Given the description of an element on the screen output the (x, y) to click on. 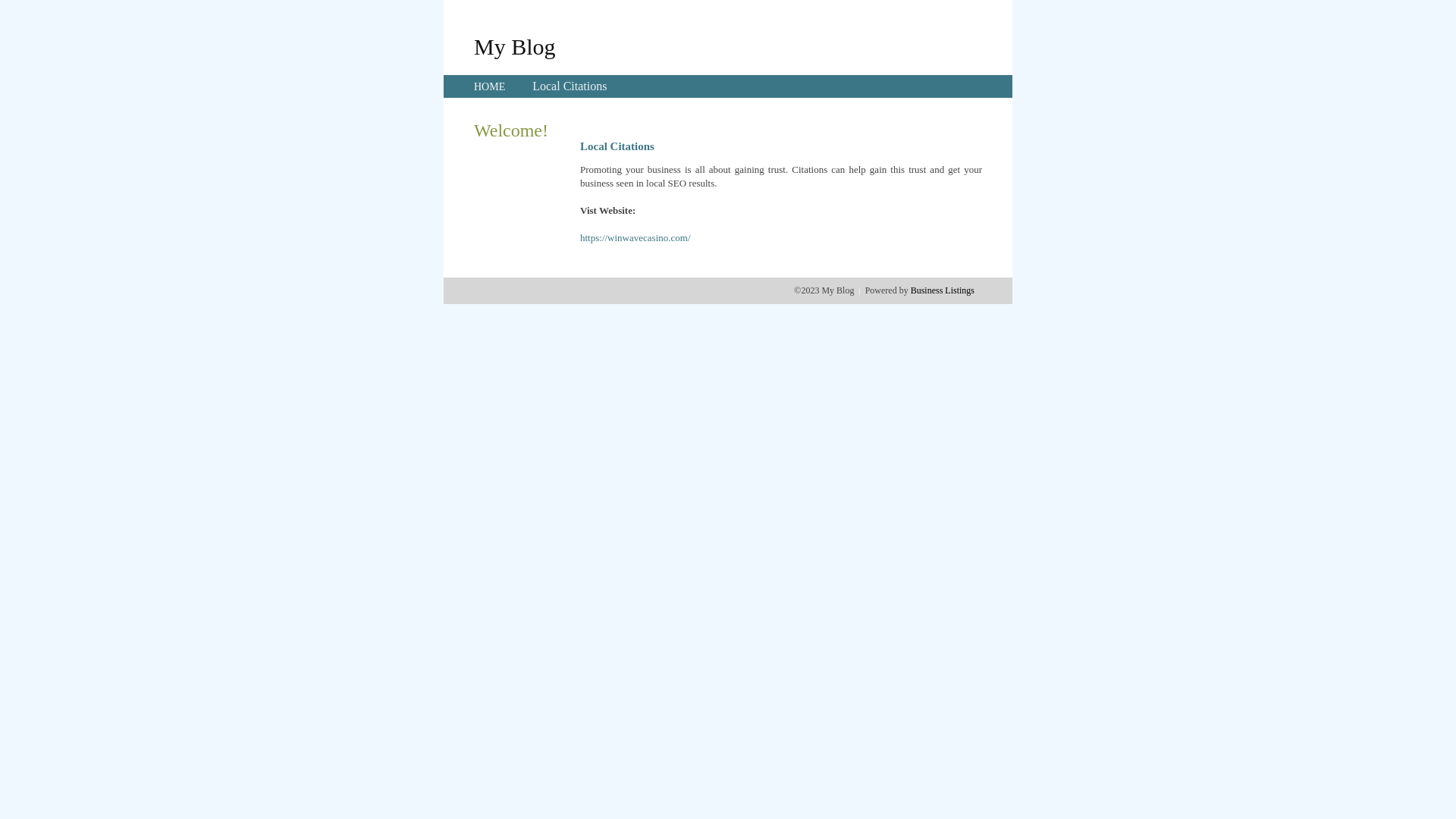
HOME Element type: text (489, 86)
https://winwavecasino.com/ Element type: text (635, 237)
Business Listings Element type: text (942, 290)
Local Citations Element type: text (569, 85)
My Blog Element type: text (514, 46)
